Given the description of an element on the screen output the (x, y) to click on. 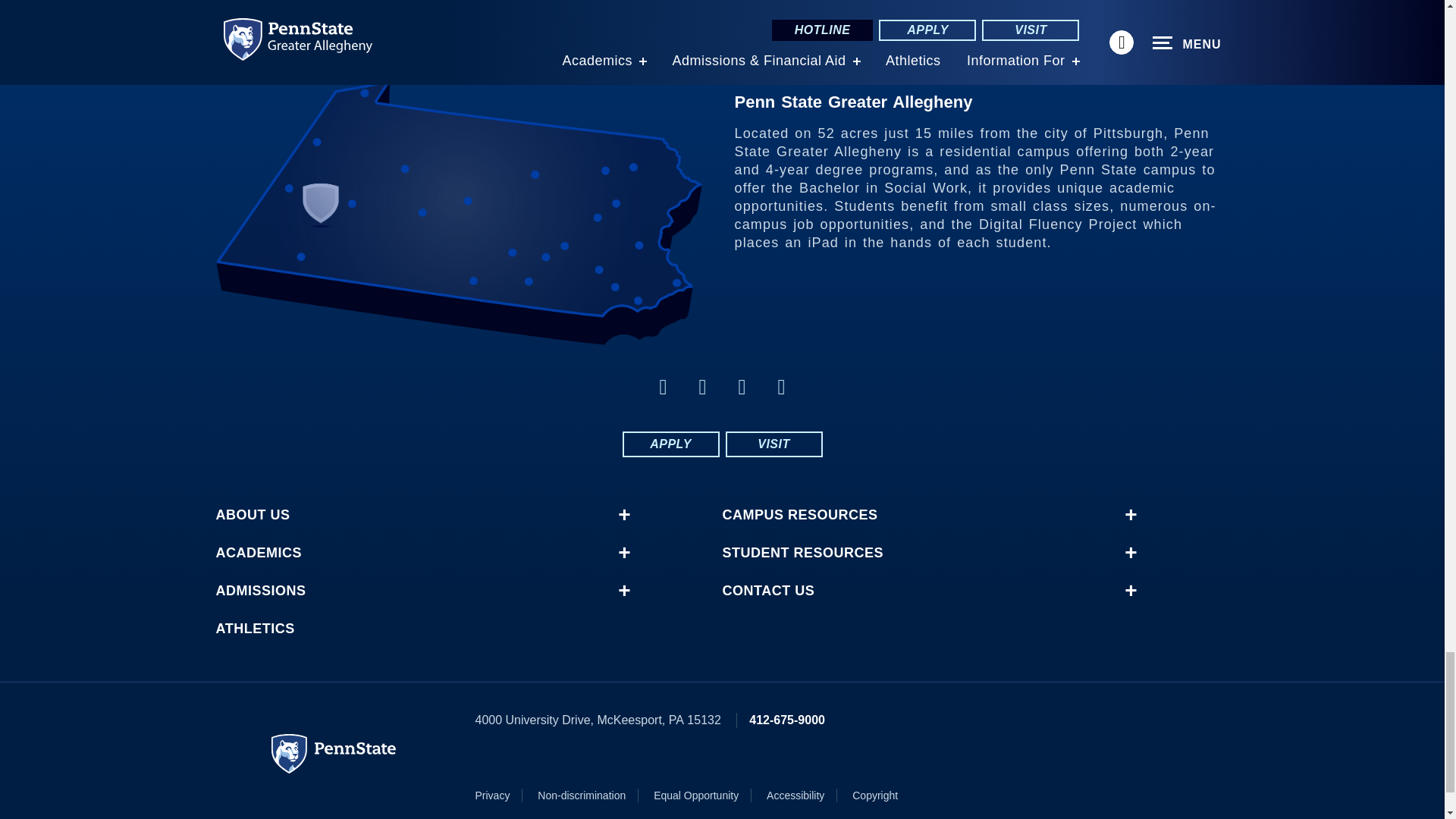
youtube (741, 386)
instagram (781, 386)
linkedin (702, 386)
facebook (662, 386)
